Given the description of an element on the screen output the (x, y) to click on. 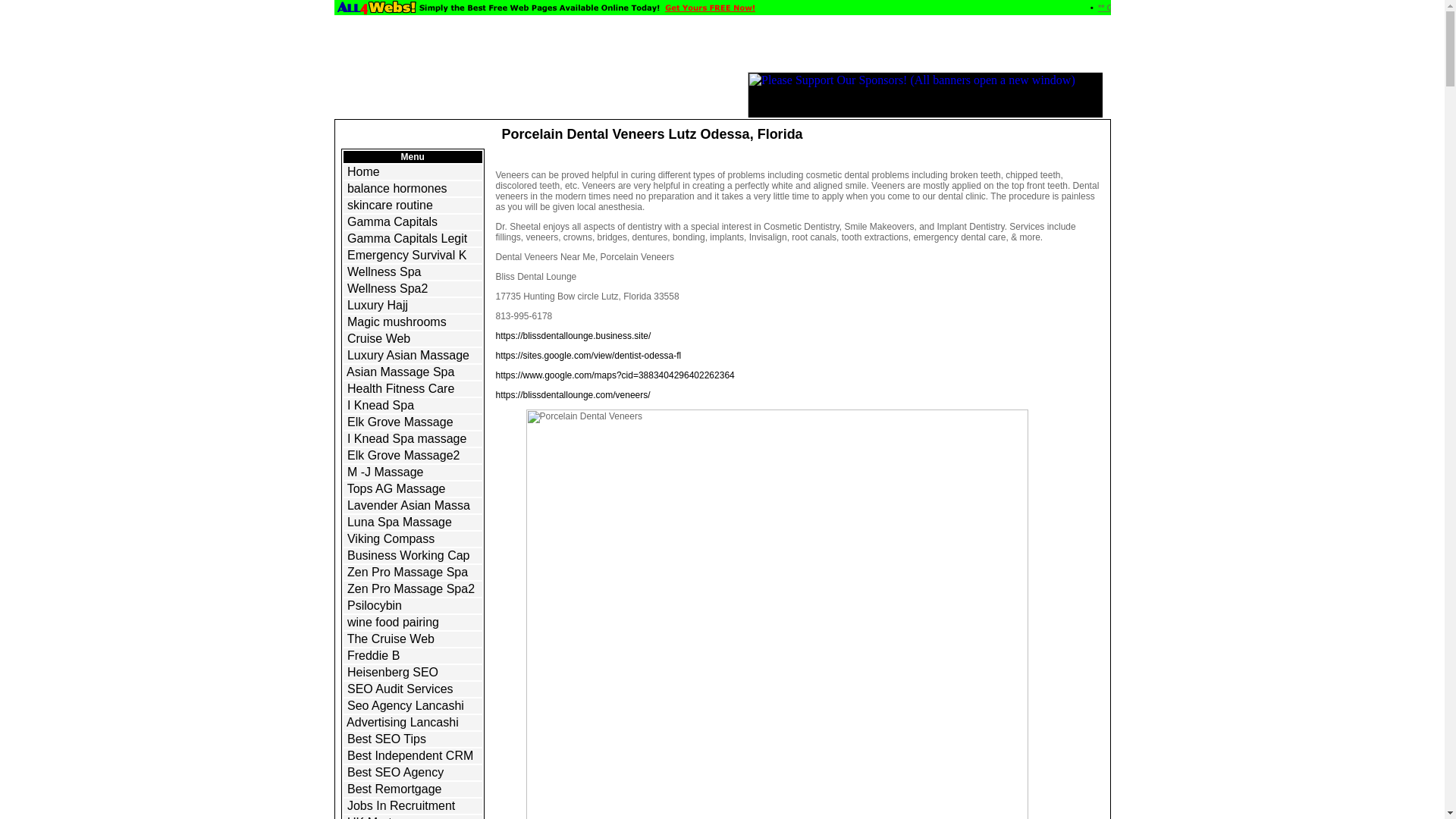
M -J Massage (385, 472)
Zen Pro Massage Spa (407, 571)
Cruise Web (378, 338)
I Knead Spa massage (406, 438)
Psilocybin (374, 604)
Best Independent CRM (410, 755)
Elk Grove Massage2 (403, 454)
balance hormones (396, 187)
Heisenberg SEO (392, 671)
Tops AG Massage (396, 488)
skincare routine (389, 205)
Seo Agency Lancashi (405, 705)
SEO Audit Services (399, 688)
Luxury Asian Massage (407, 354)
Zen Pro Massage Spa2 (410, 588)
